Given the description of an element on the screen output the (x, y) to click on. 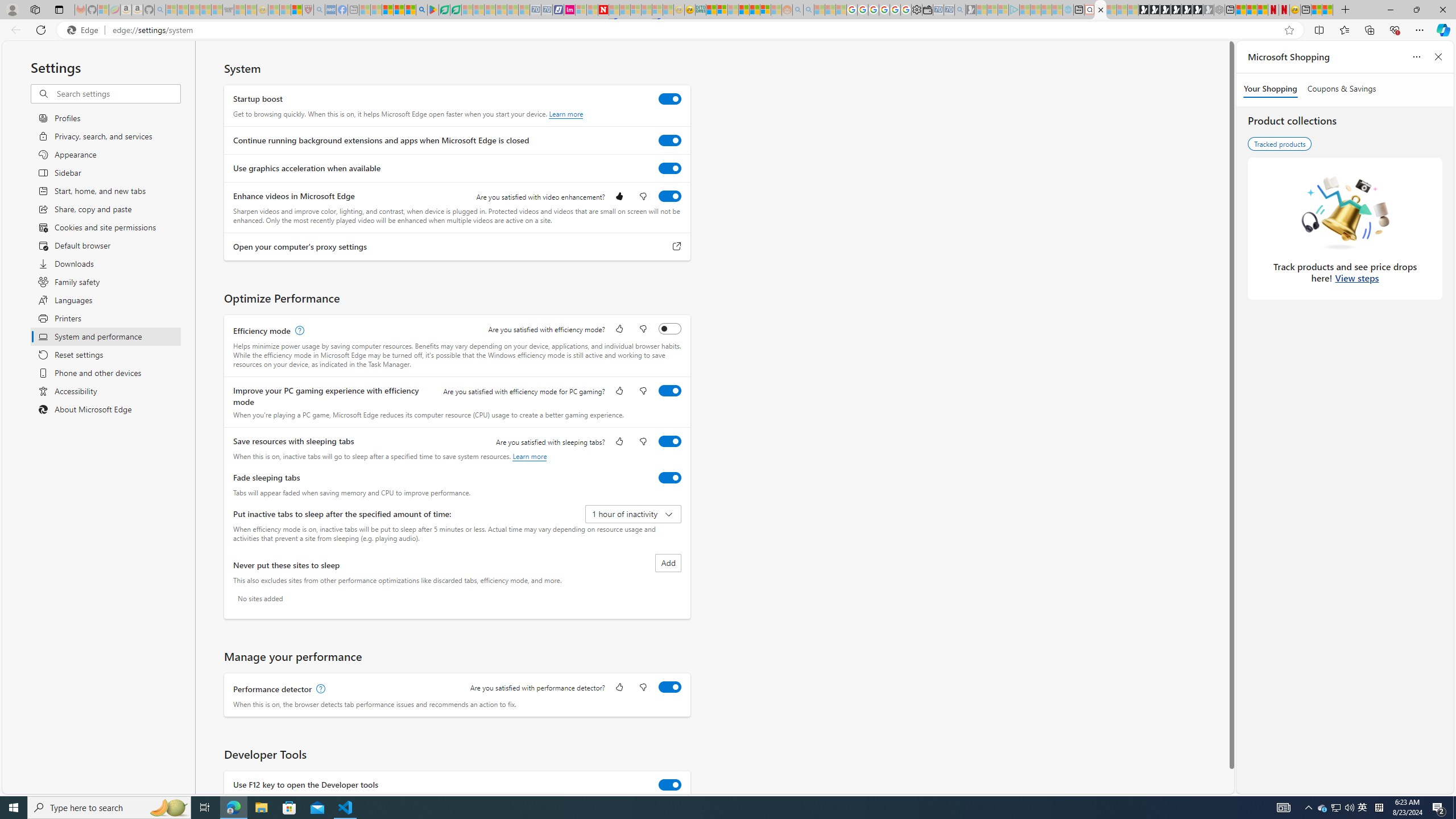
Add site to never put these sites to sleep list (668, 562)
Kinda Frugal - MSN (754, 9)
Efficiency mode, learn more (298, 330)
